Given the description of an element on the screen output the (x, y) to click on. 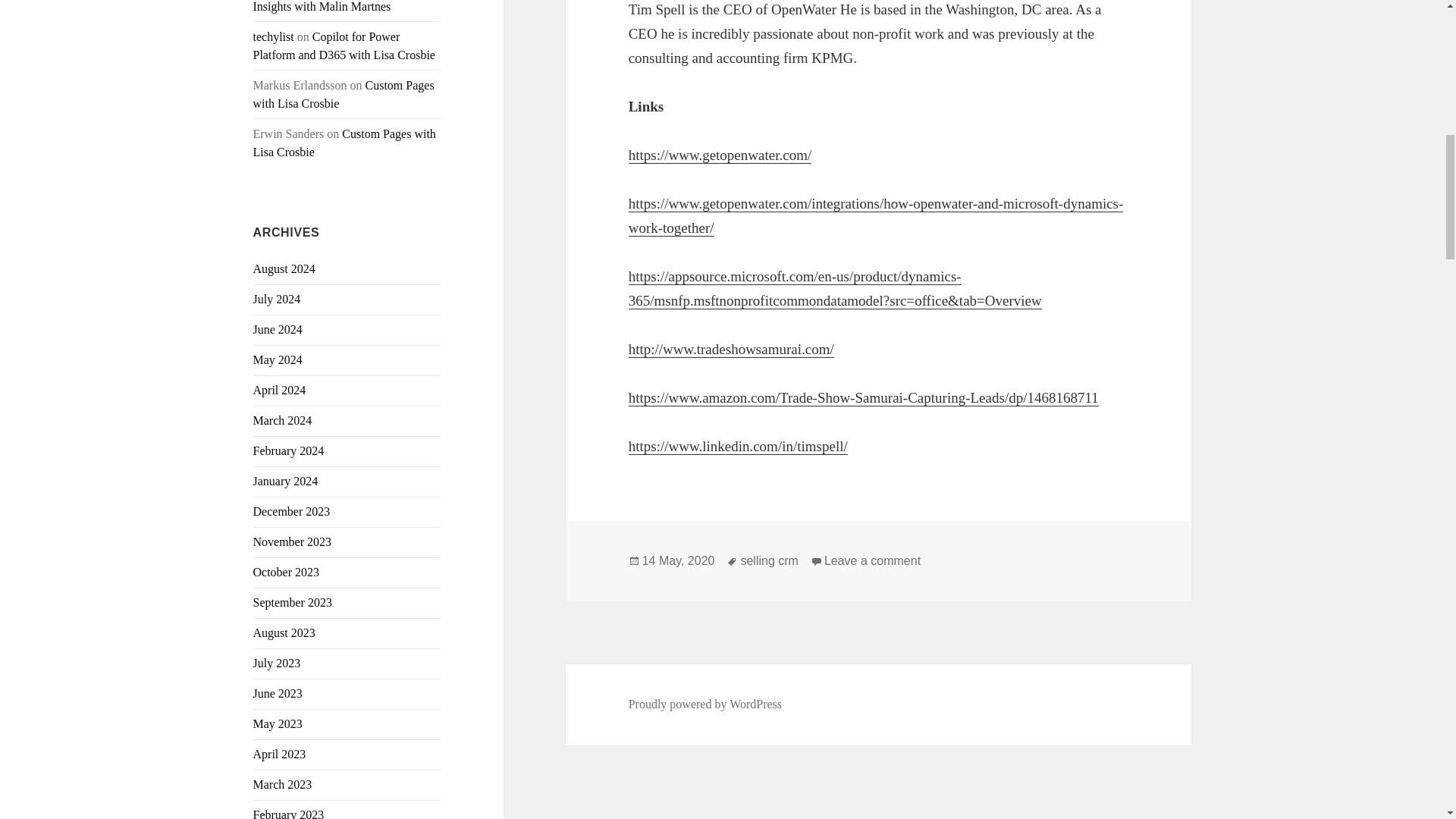
Custom Pages with Lisa Crosbie (343, 93)
January 2024 (285, 481)
June 2023 (277, 693)
March 2024 (283, 420)
December 2023 (291, 511)
August 2024 (284, 268)
July 2024 (277, 298)
July 2023 (277, 662)
April 2024 (279, 390)
Copilot for Power Platform and D365 with Lisa Crosbie (344, 45)
